Given the description of an element on the screen output the (x, y) to click on. 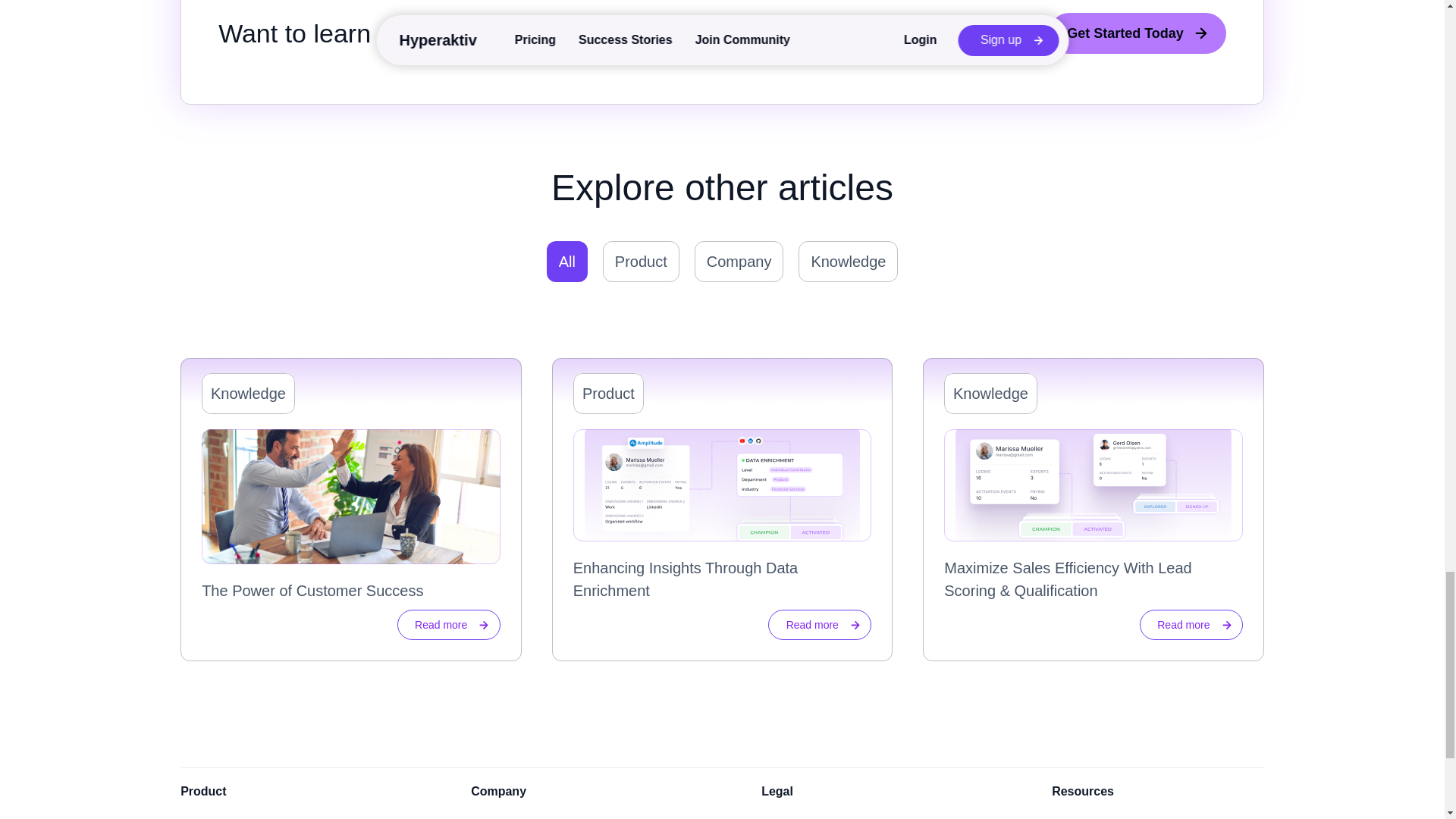
Get Started Today (1136, 33)
